Given the description of an element on the screen output the (x, y) to click on. 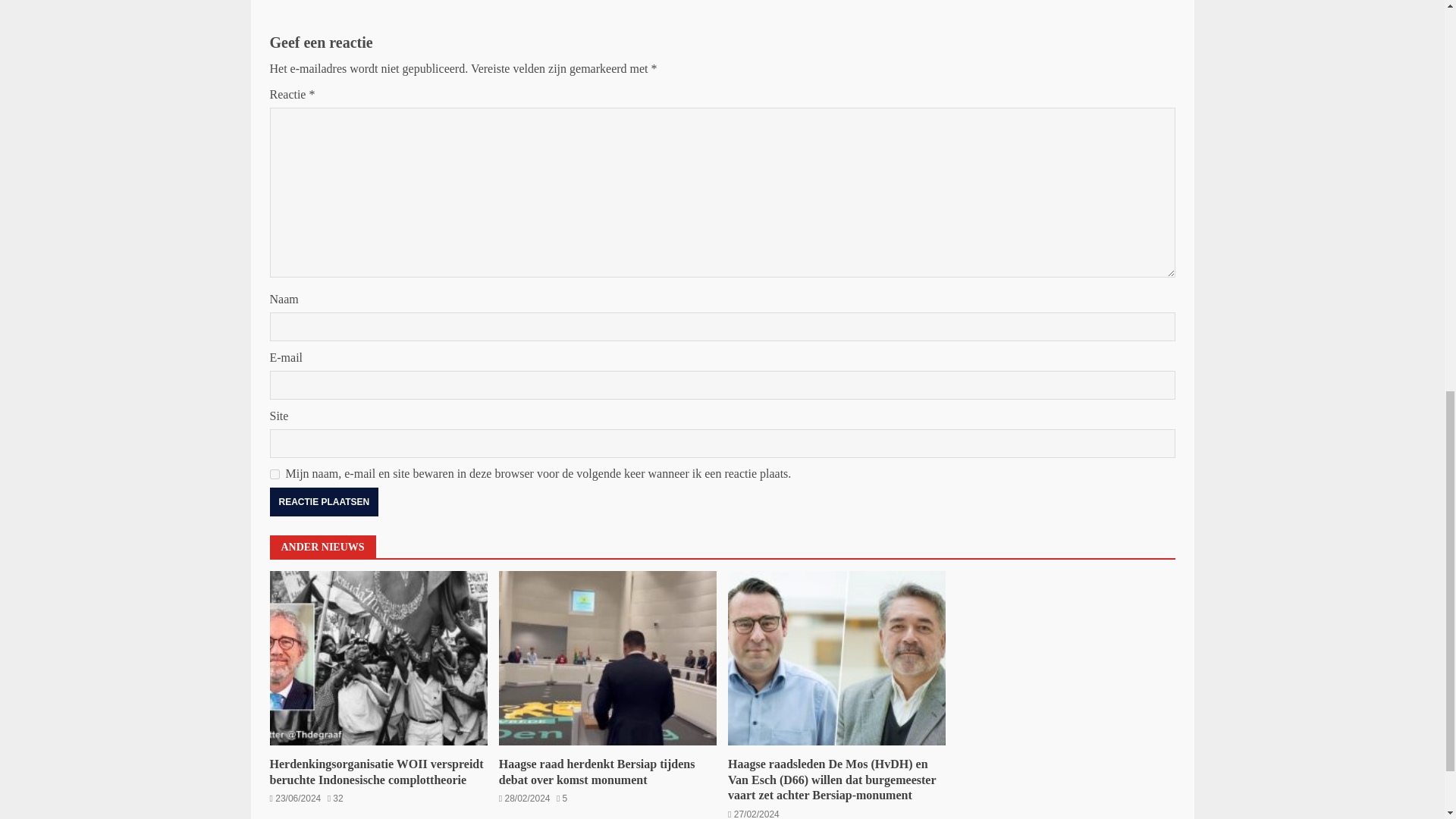
yes (274, 474)
Reactie plaatsen (323, 501)
